Given the description of an element on the screen output the (x, y) to click on. 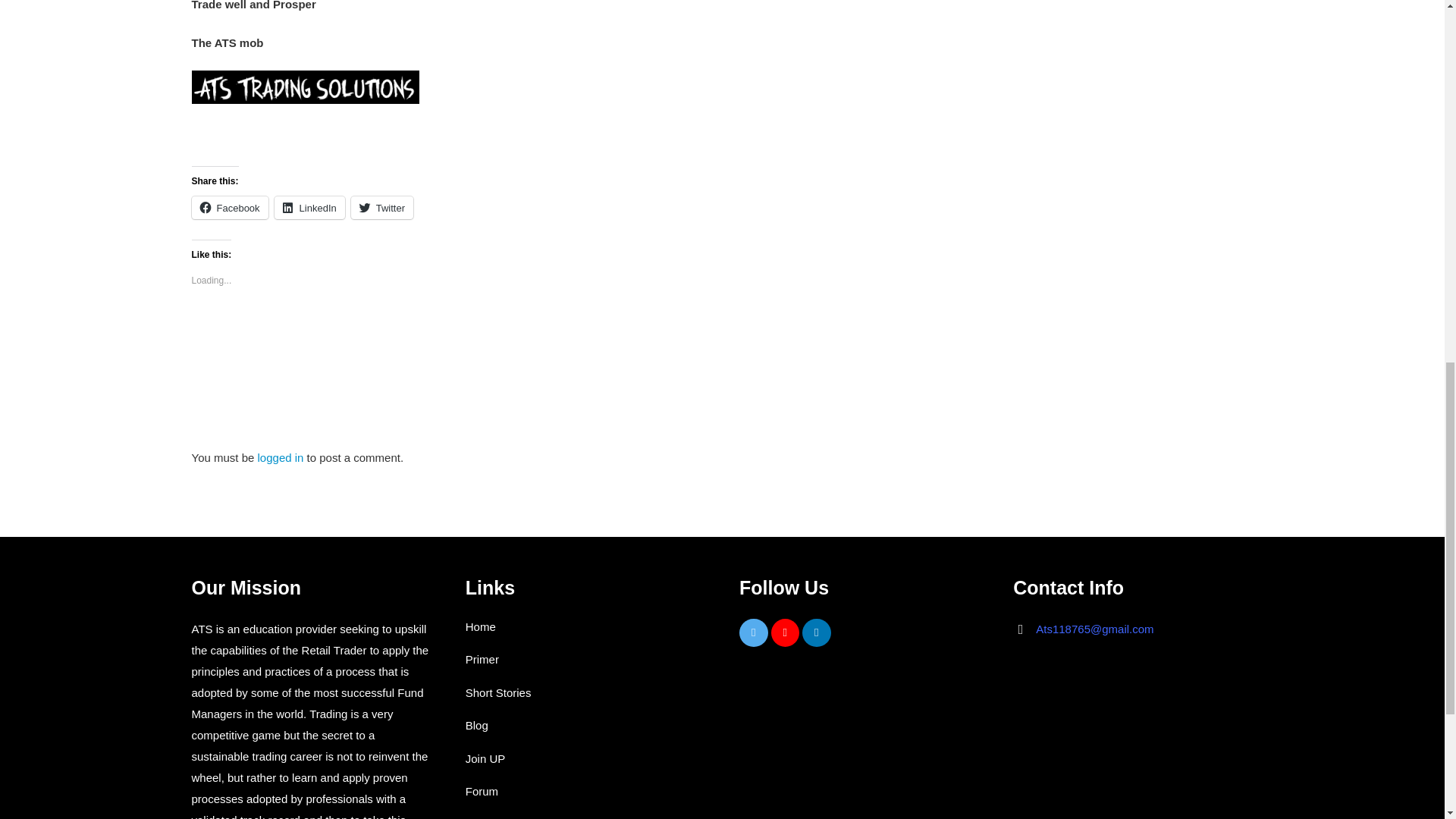
Click to share on LinkedIn (310, 207)
YouTube (784, 633)
Back to top (1413, 26)
Short Stories (498, 692)
Click to share on Twitter (381, 207)
Facebook (228, 207)
Twitter (753, 633)
LinkedIn (310, 207)
logged in (280, 457)
Click to share on Facebook (228, 207)
